Given the description of an element on the screen output the (x, y) to click on. 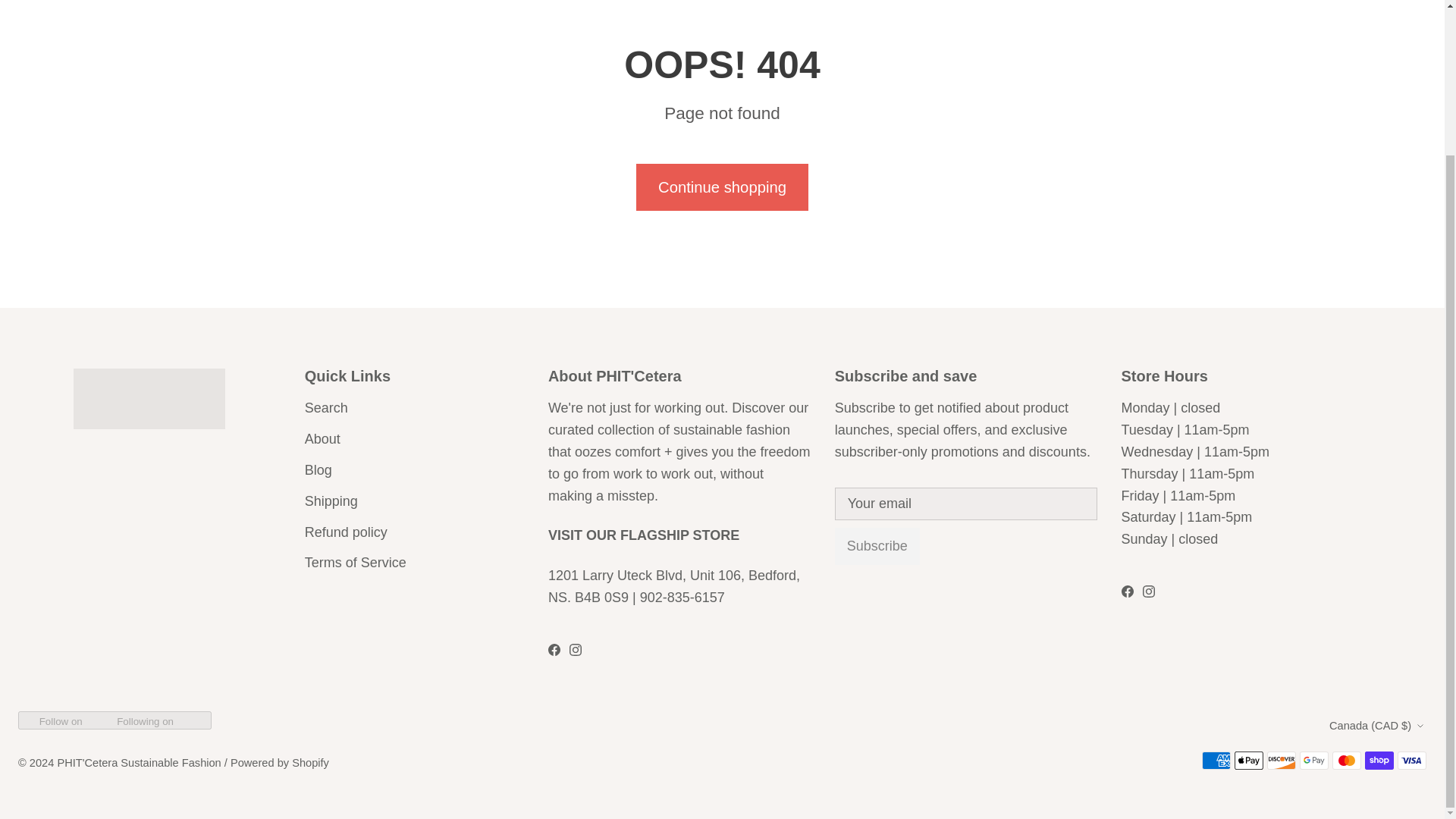
American Express (1216, 760)
Shop Pay (1379, 760)
Mastercard (1346, 760)
Visa (1411, 760)
Google Pay (1313, 760)
Discover (1280, 760)
Apple Pay (1248, 760)
